Given the description of an element on the screen output the (x, y) to click on. 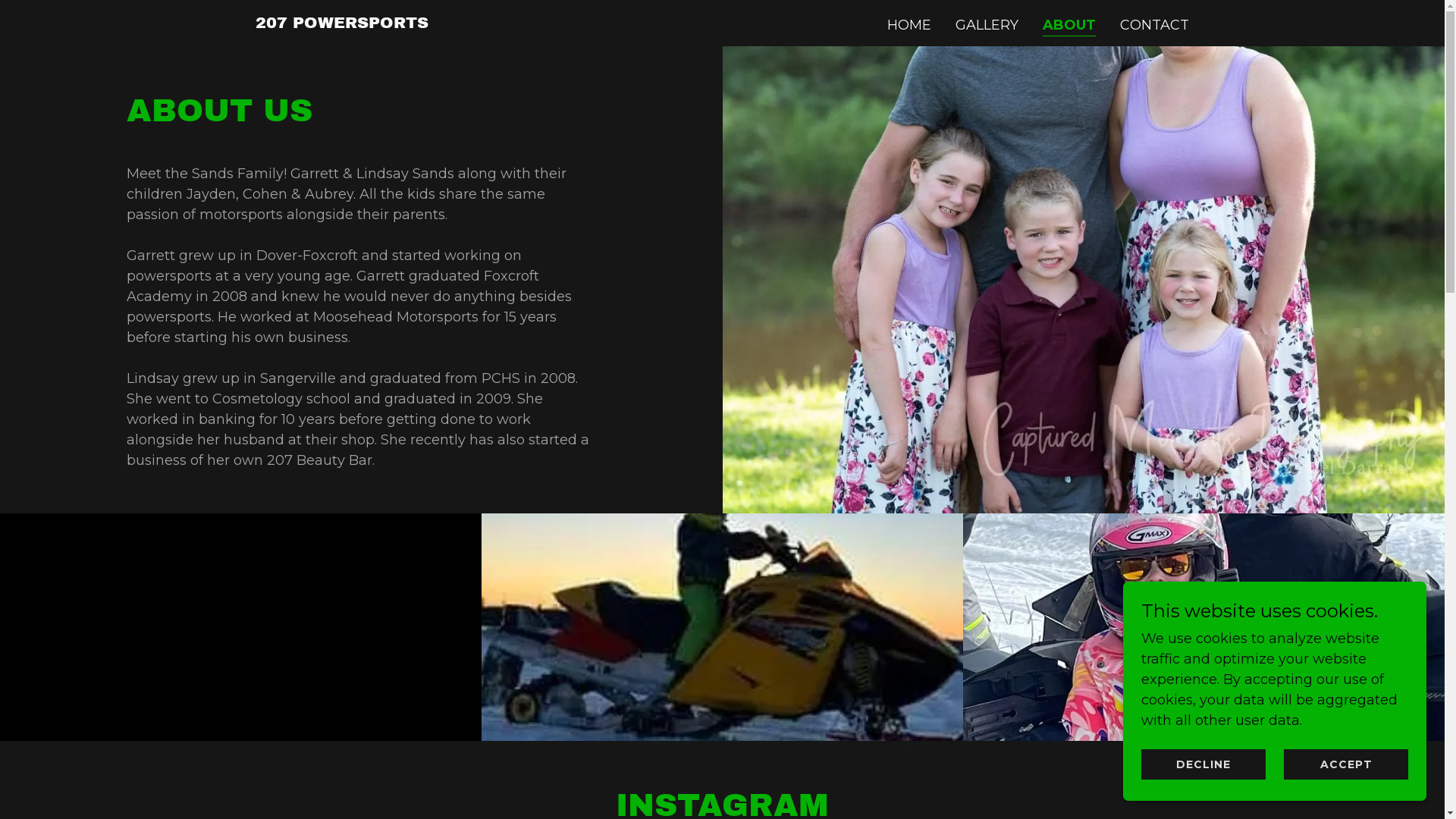
CONTACT Element type: text (1154, 24)
DECLINE Element type: text (1203, 764)
ABOUT Element type: text (1068, 25)
HOME Element type: text (908, 24)
207 POWERSPORTS Element type: text (340, 23)
ACCEPT Element type: text (1345, 764)
GALLERY Element type: text (986, 24)
